Given the description of an element on the screen output the (x, y) to click on. 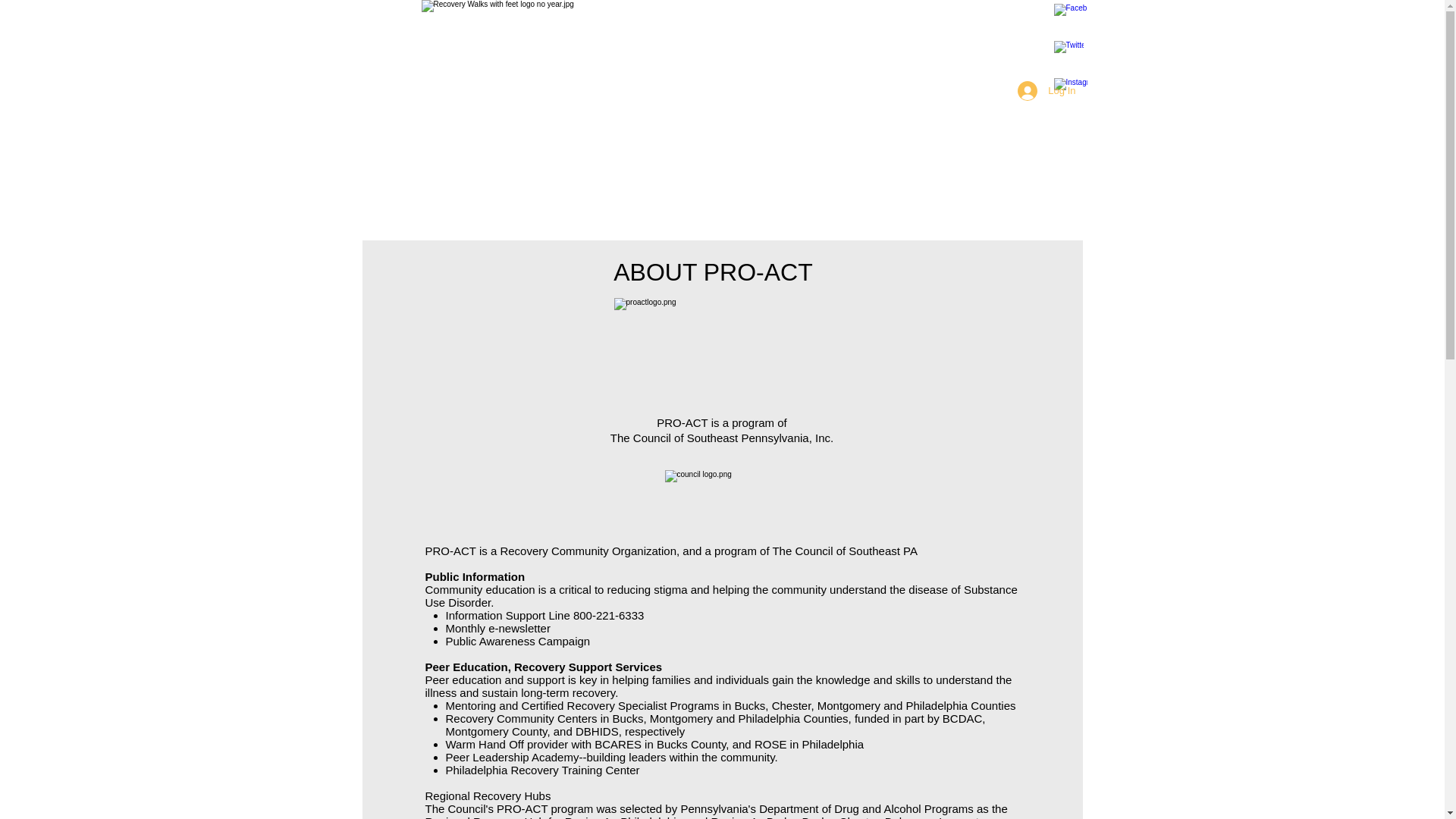
Log In (1046, 90)
